Given the description of an element on the screen output the (x, y) to click on. 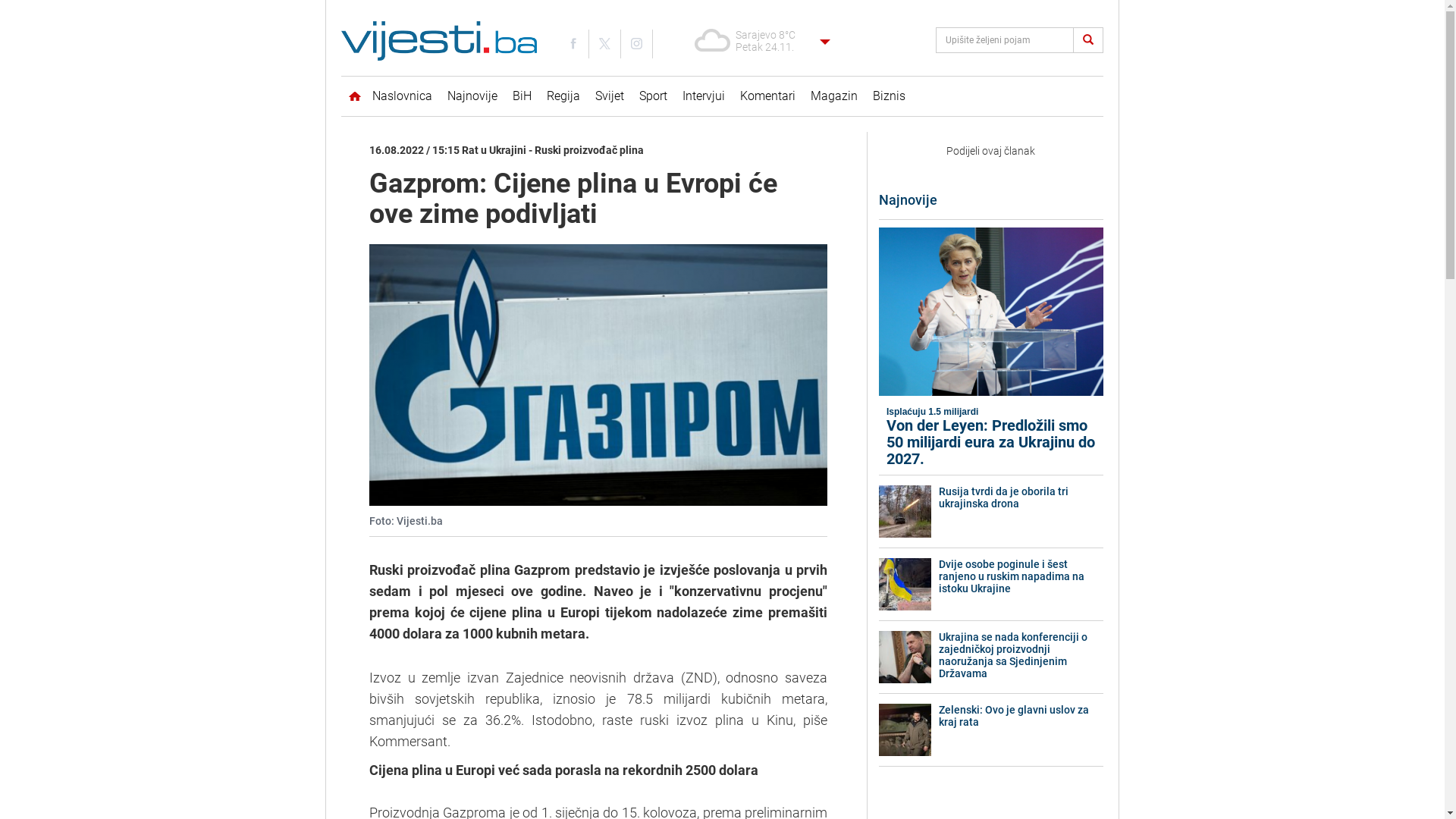
Rusija tvrdi da je oborila tri ukrajinska drona Element type: text (1020, 497)
Biznis Element type: text (889, 96)
Magazin Element type: text (834, 96)
Naslovnica Element type: text (390, 96)
Sport Element type: text (652, 96)
BiH Element type: text (522, 96)
Najnovije Element type: text (472, 96)
Intervjui Element type: text (703, 96)
Zelenski: Ovo je glavni uslov za kraj rata Element type: text (1020, 715)
Regija Element type: text (563, 96)
Komentari Element type: text (767, 96)
Svijet Element type: text (609, 96)
